Given the description of an element on the screen output the (x, y) to click on. 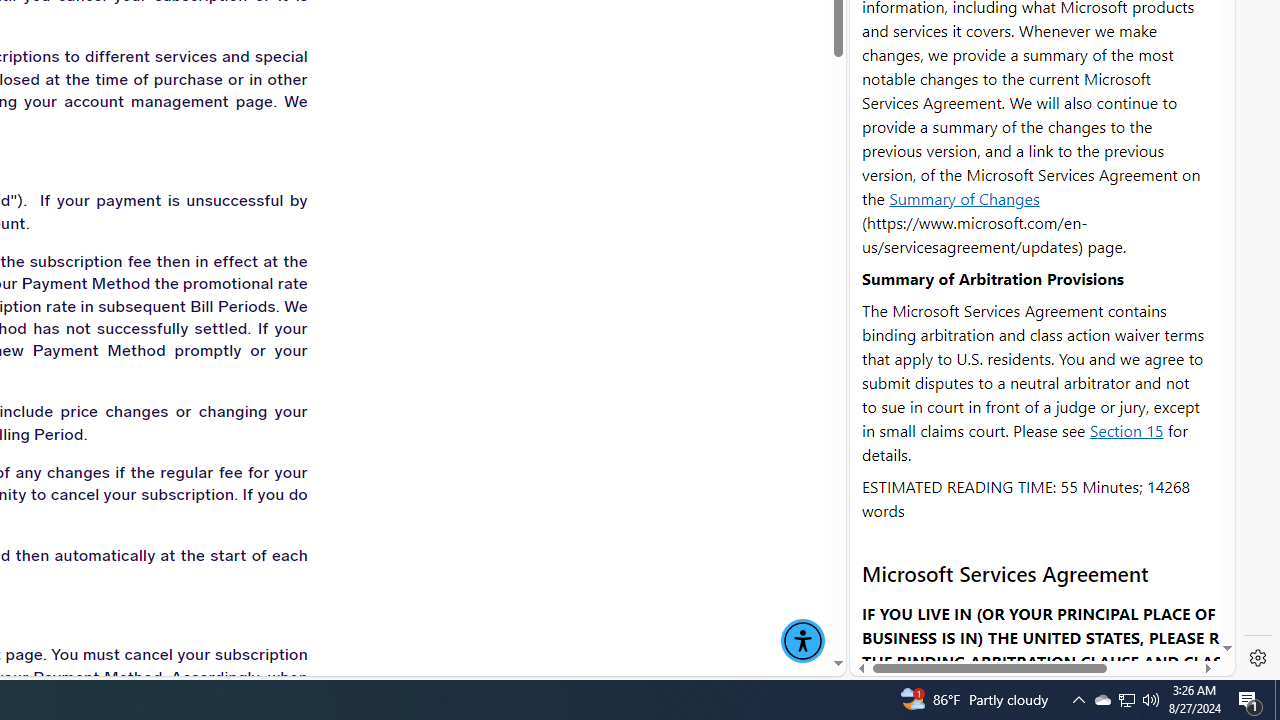
Open in New Tab (1042, 631)
Section 15 (1126, 429)
Accessibility Menu (802, 641)
Summary of Changes (964, 197)
